Given the description of an element on the screen output the (x, y) to click on. 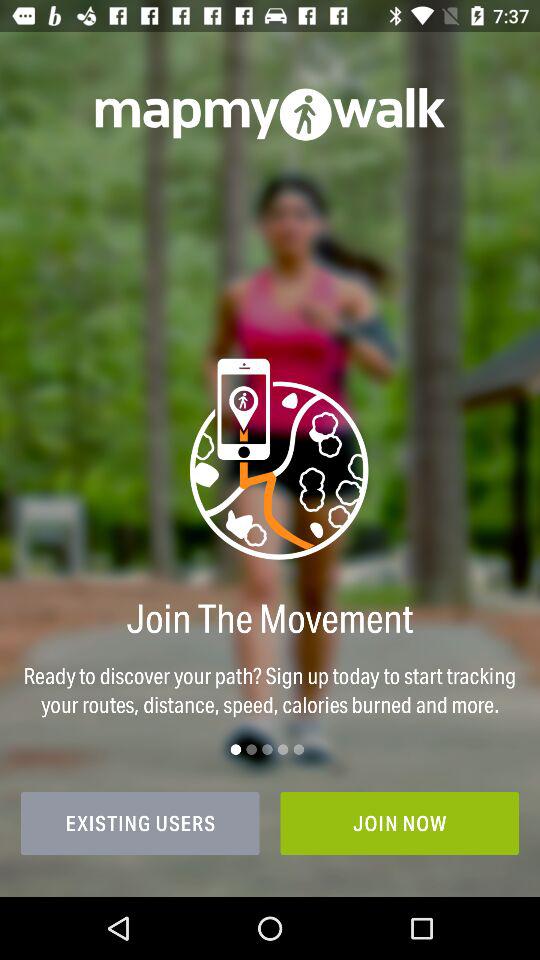
click item to the left of the join now item (140, 823)
